Given the description of an element on the screen output the (x, y) to click on. 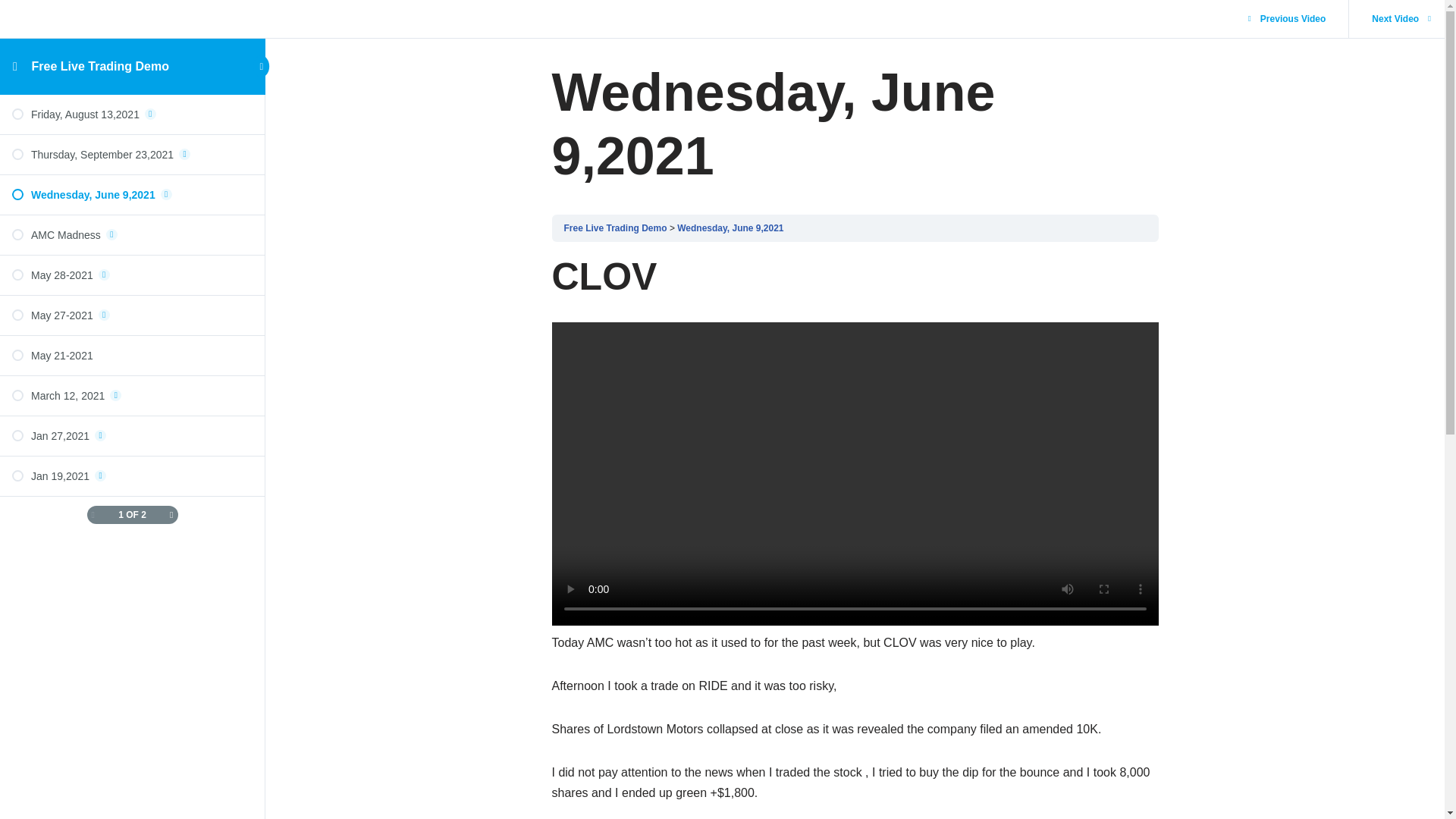
AMC Madness (131, 234)
May 27-2021 (131, 314)
May 28-2021 (131, 274)
March 12, 2021 (131, 395)
Wednesday, June 9,2021 (730, 227)
Previous Video (1291, 18)
Free Live Trading Demo (100, 65)
Jan 19,2021 (131, 476)
Wednesday, June 9,2021 (131, 194)
Free Live Trading Demo (615, 227)
Jan 27,2021 (131, 435)
May 21-2021 (131, 355)
Friday, August 13,2021 (131, 114)
Thursday, September 23,2021 (131, 154)
